Given the description of an element on the screen output the (x, y) to click on. 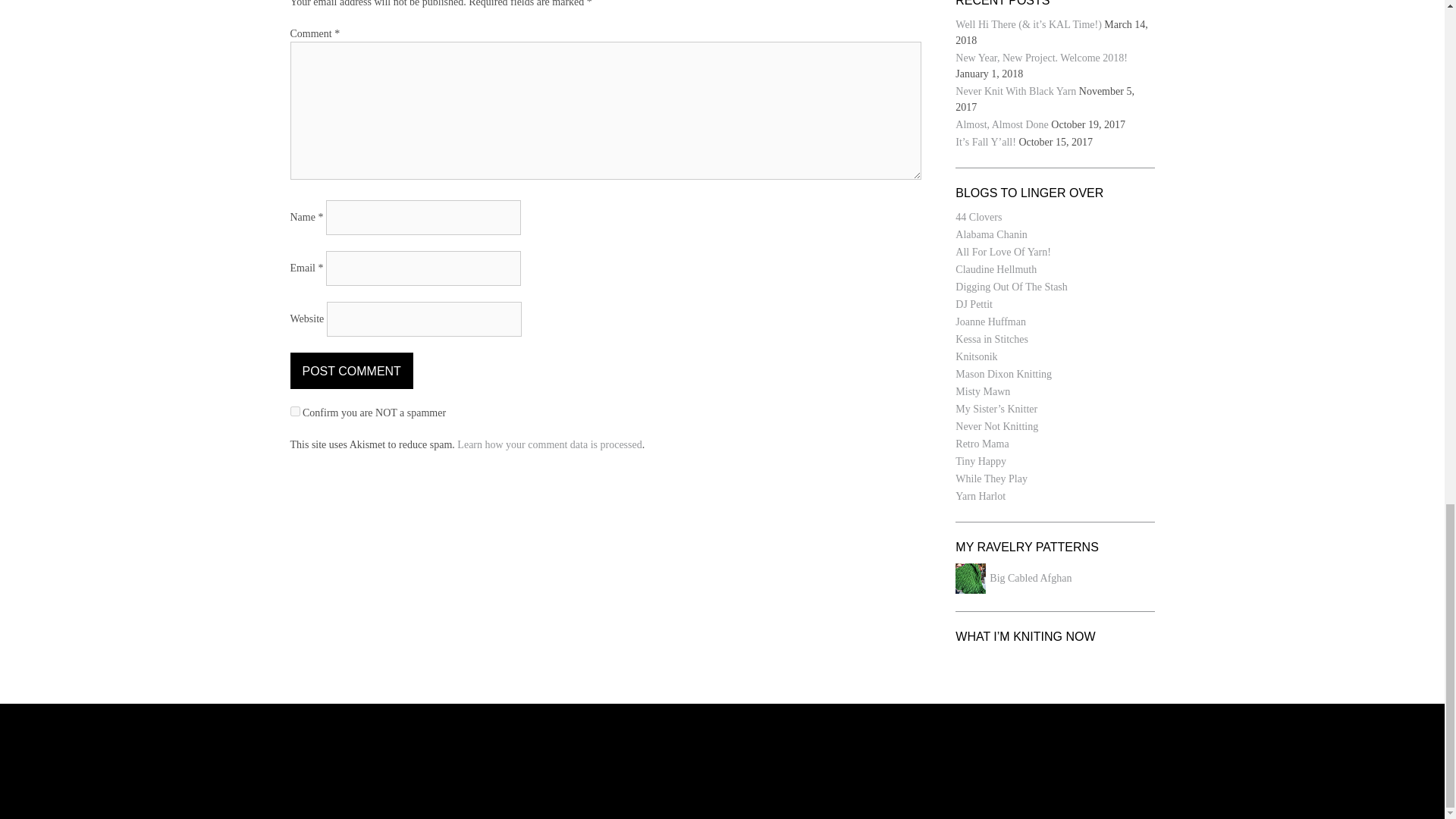
on (294, 411)
Post Comment (350, 370)
Learn how your comment data is processed (549, 444)
Post Comment (350, 370)
